Given the description of an element on the screen output the (x, y) to click on. 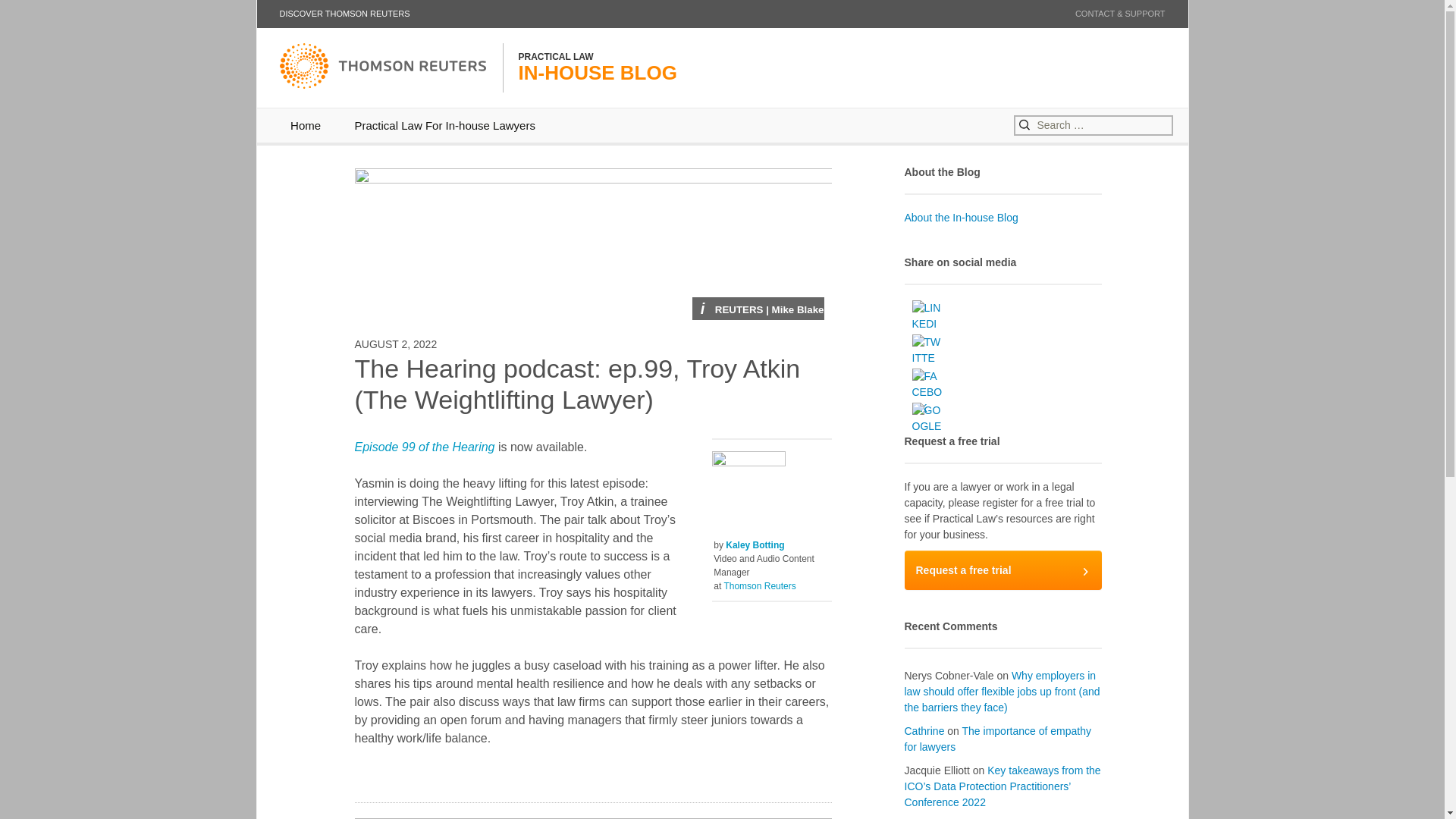
DISCOVER THOMSON REUTERS (344, 13)
Search (37, 14)
Home (305, 125)
Episode 99 of the Hearing (425, 446)
Practical Law For In-house Lawyers (444, 125)
Cathrine (923, 730)
The importance of empathy for lawyers (1002, 569)
Kaley Botting (997, 738)
